Given the description of an element on the screen output the (x, y) to click on. 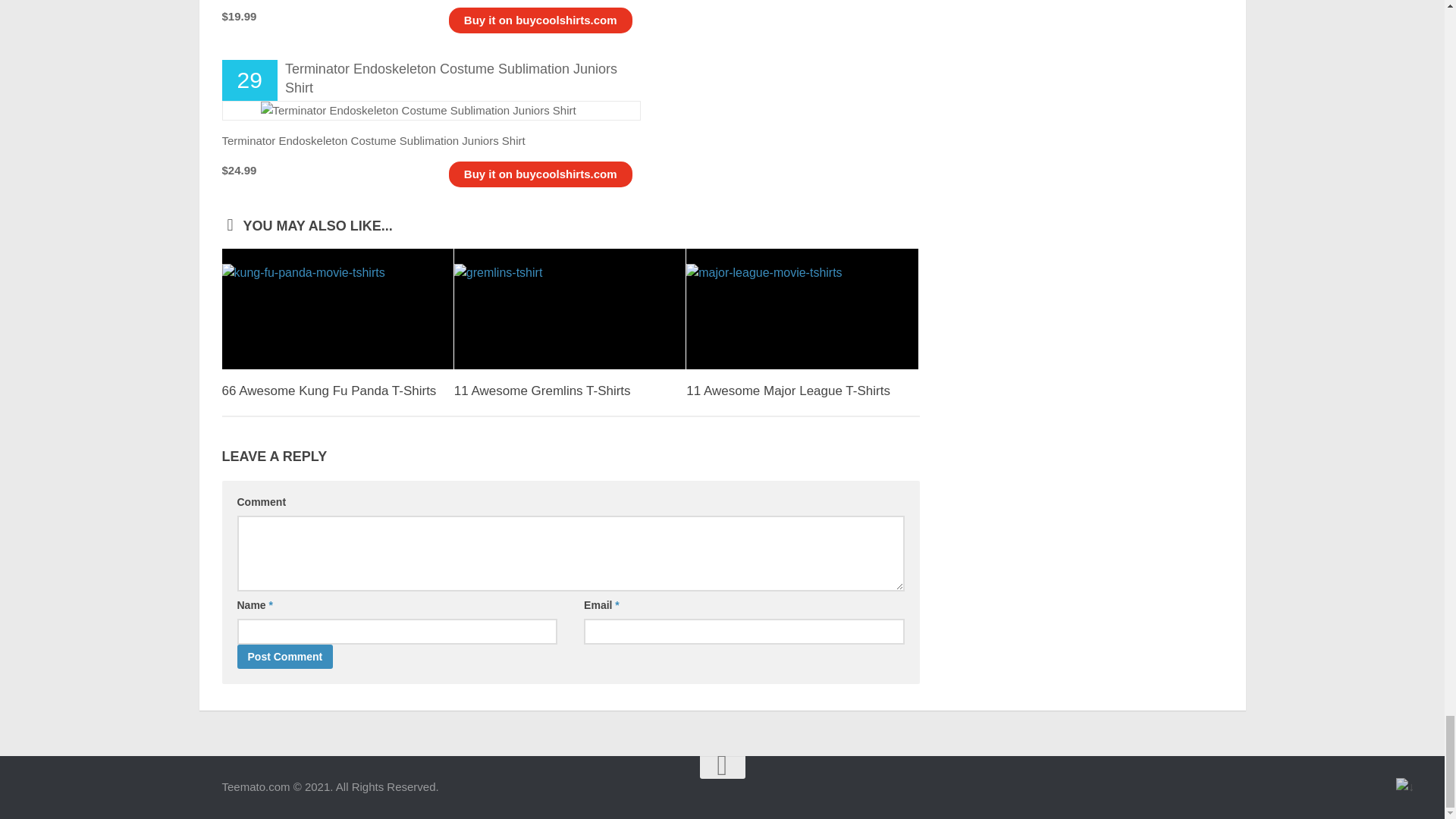
11 Awesome Major League T-Shirts (801, 307)
Post Comment (284, 656)
Buy it on buycoolshirts.com (540, 173)
11 Awesome Gremlins T-Shirts (542, 391)
66 Awesome Kung Fu Panda T-Shirts (328, 391)
11 Awesome Gremlins T-Shirts (569, 307)
Buy it on buycoolshirts.com (540, 19)
66 Awesome Kung Fu Panda T-Shirts (328, 391)
66 Awesome Kung Fu Panda T-Shirts (336, 307)
11 Awesome Major League T-Shirts (787, 391)
